Given the description of an element on the screen output the (x, y) to click on. 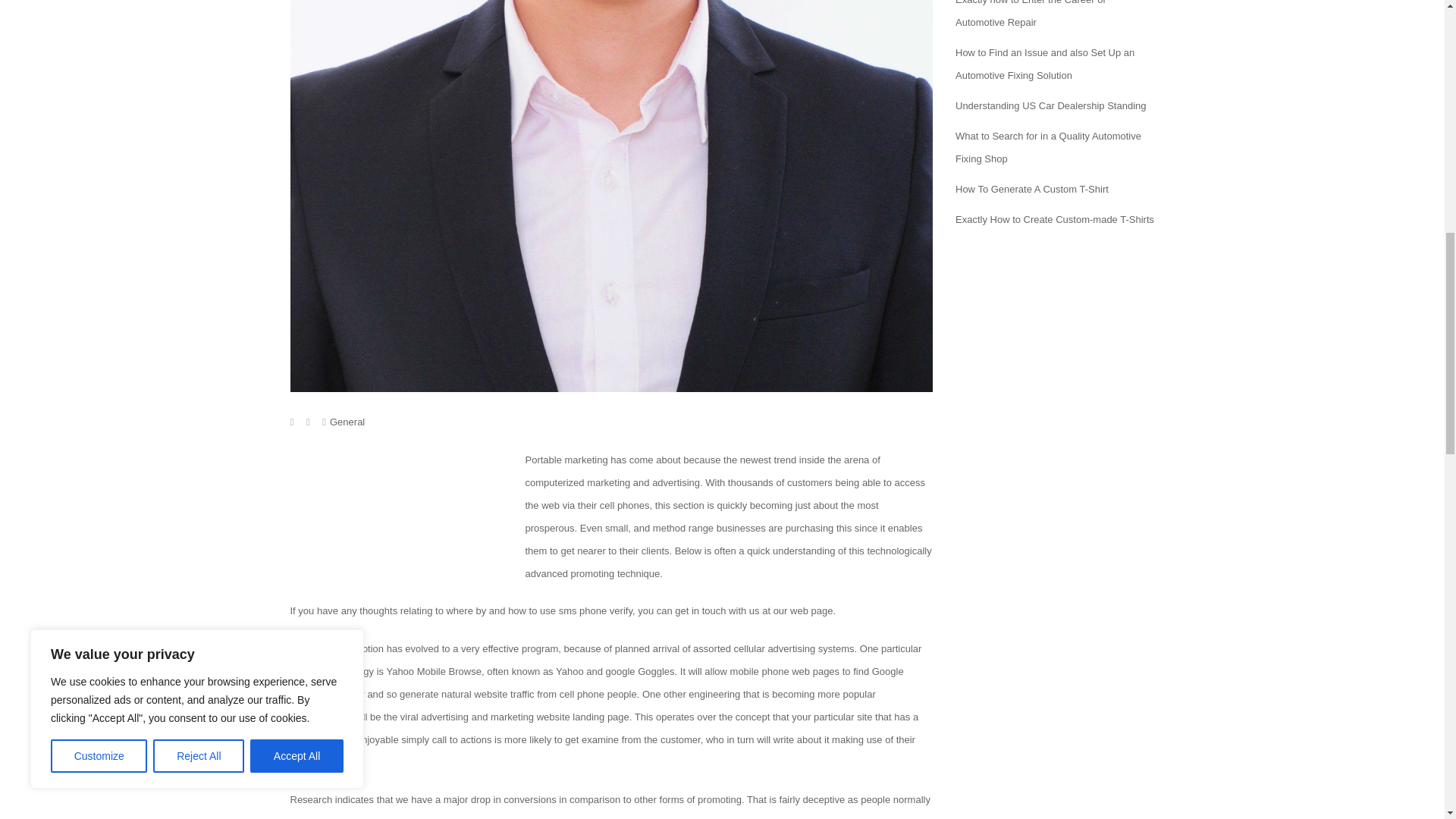
sms phone verify (595, 610)
General (347, 421)
